Given the description of an element on the screen output the (x, y) to click on. 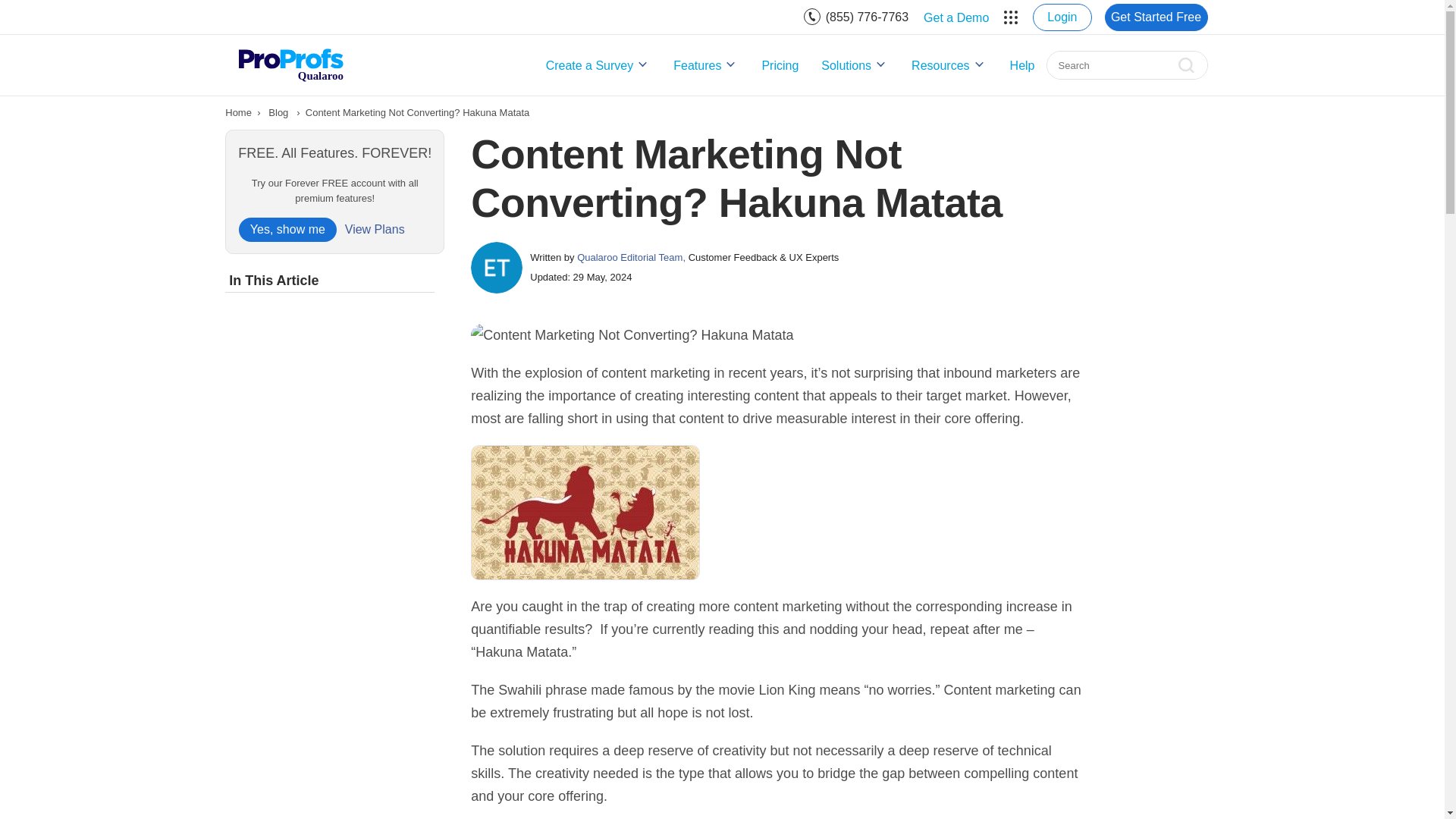
Blog (277, 112)
Home (238, 112)
Features (705, 65)
Login (1061, 16)
Get Started Free (1155, 16)
Get a Demo (955, 17)
Get Started Free (1155, 16)
Get a Demo (955, 17)
Qualaroo (289, 64)
Solutions (854, 65)
